Given the description of an element on the screen output the (x, y) to click on. 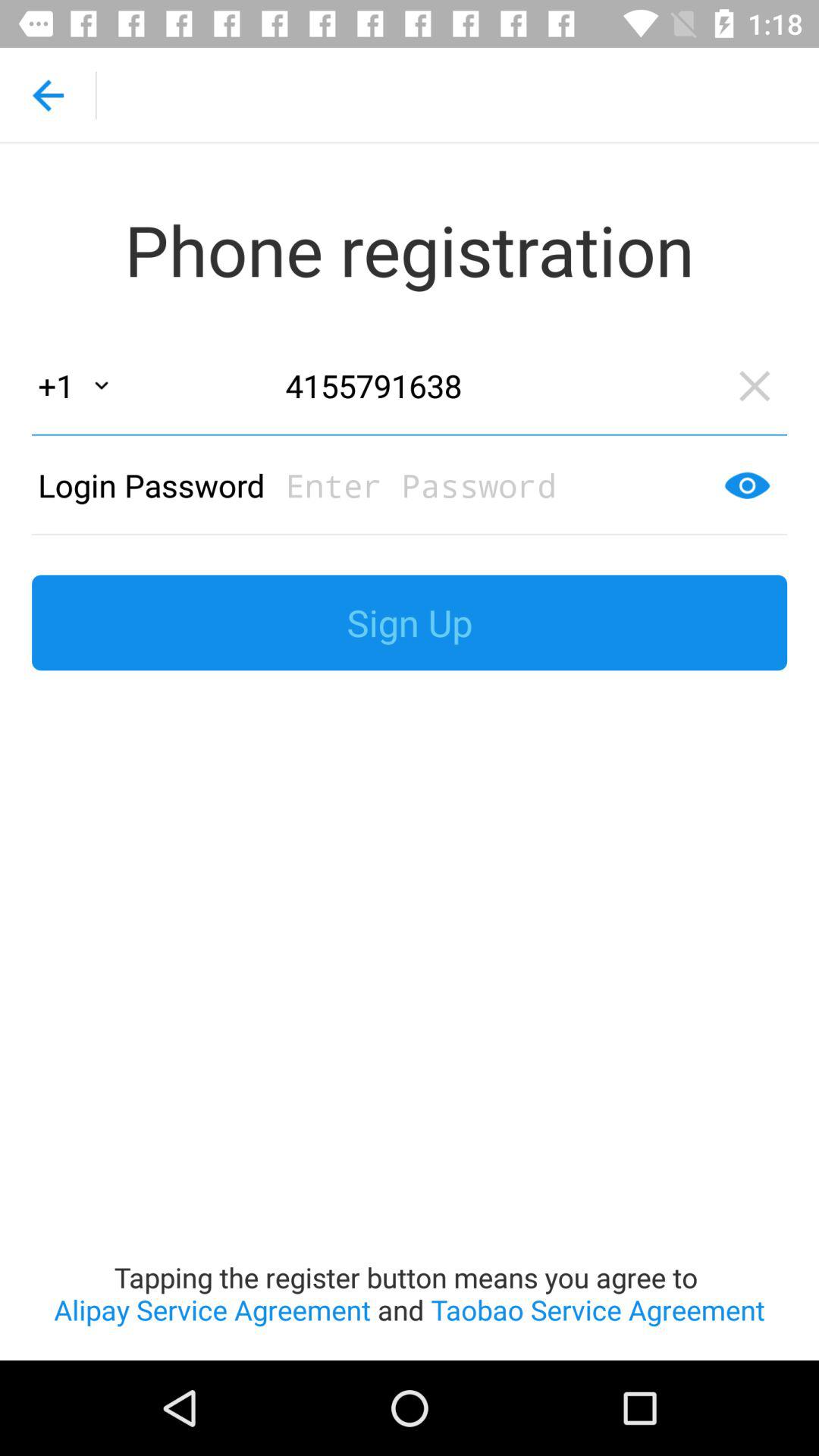
press the tapping the register item (409, 1024)
